Given the description of an element on the screen output the (x, y) to click on. 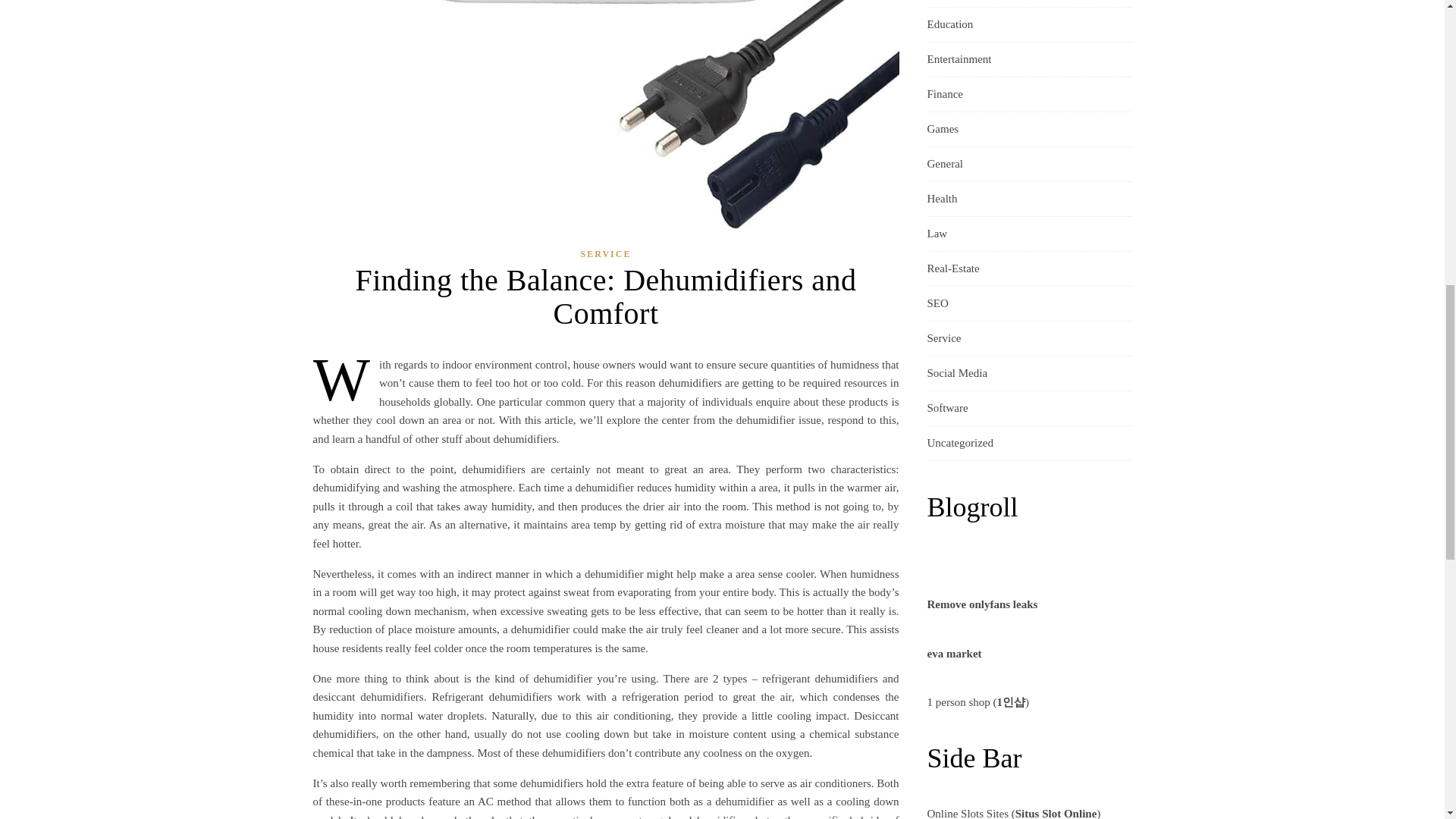
Entertainment (958, 59)
Service (943, 338)
Education (949, 24)
Uncategorized (959, 442)
Remove onlyfans leaks (981, 604)
Finance (944, 93)
Social Media (956, 373)
General (944, 163)
eva market (953, 653)
Games (942, 129)
Real-Estate (952, 268)
SERVICE (605, 253)
Software (947, 408)
Business (946, 3)
